Given the description of an element on the screen output the (x, y) to click on. 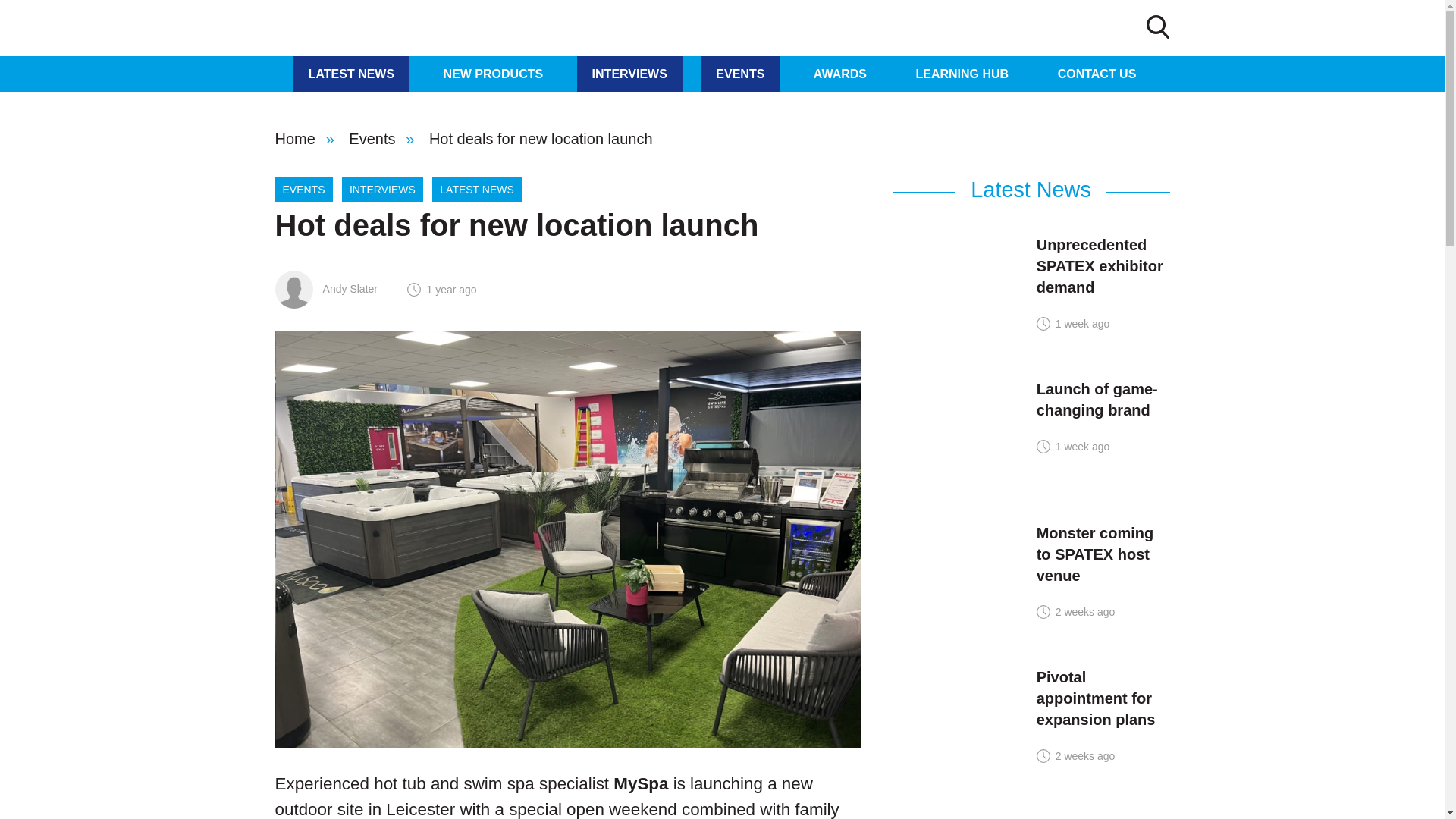
INTERVIEWS (382, 189)
NEW PRODUCTS (493, 73)
Unprecedented SPATEX exhibitor demand (1099, 265)
INTERVIEWS (629, 73)
EVENTS (739, 73)
Home (294, 138)
LATEST NEWS (476, 189)
EVENTS (303, 189)
CONTACT US (1096, 73)
Andy Slater (326, 288)
LATEST NEWS (351, 73)
Events (371, 138)
AWARDS (839, 73)
LEARNING HUB (963, 73)
